Given the description of an element on the screen output the (x, y) to click on. 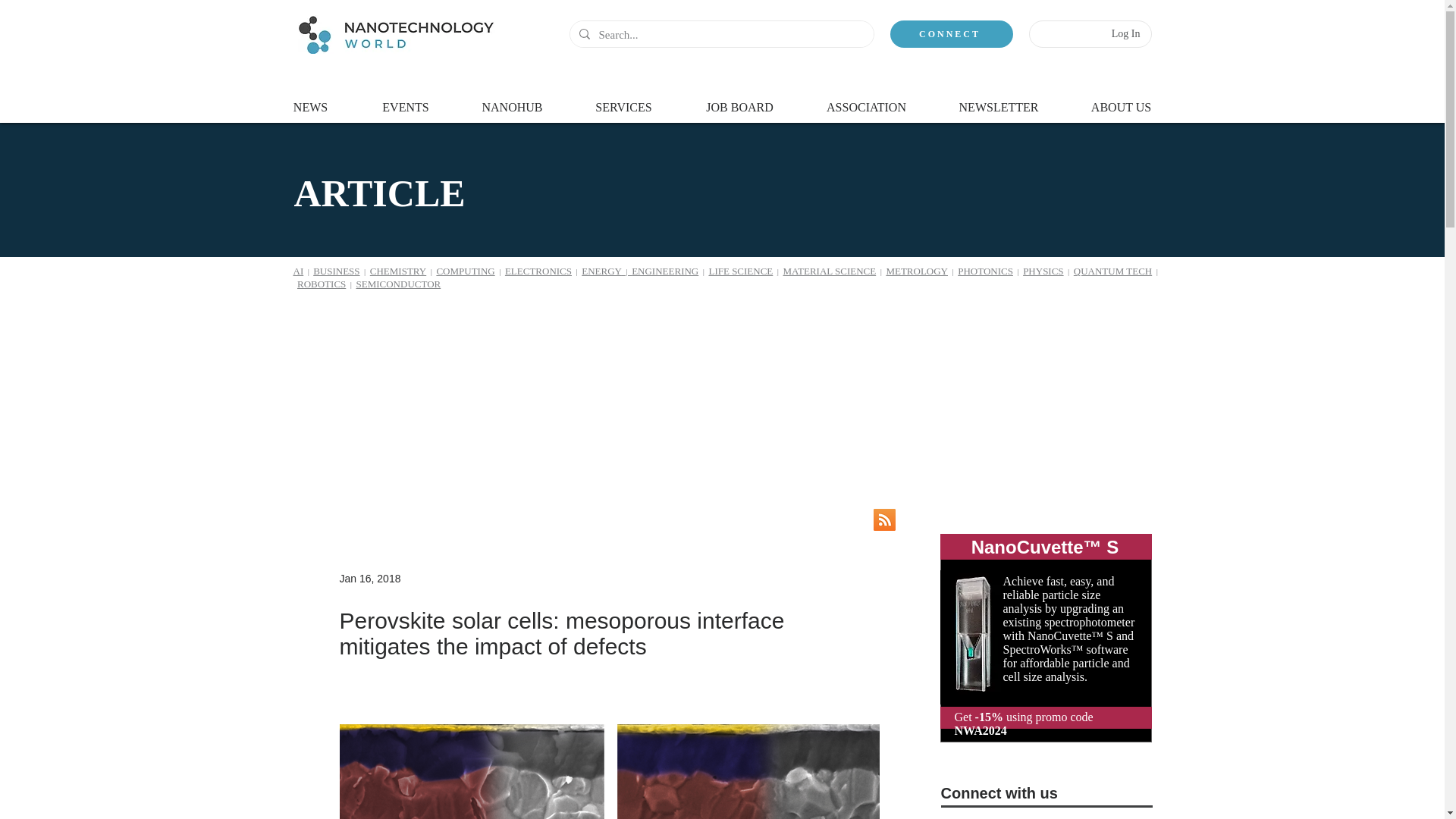
AI (297, 270)
NEWS (309, 100)
PHYSICS (1042, 270)
Jan 16, 2018 (370, 578)
CHEMISTRY (397, 270)
EVENTS (405, 100)
LIFE SCIENCE (740, 270)
SERVICES (624, 100)
COMPUTING (465, 270)
Log In (1125, 33)
BUSINESS (336, 270)
PHOTONICS (985, 270)
ABOUT US (1120, 100)
